Given the description of an element on the screen output the (x, y) to click on. 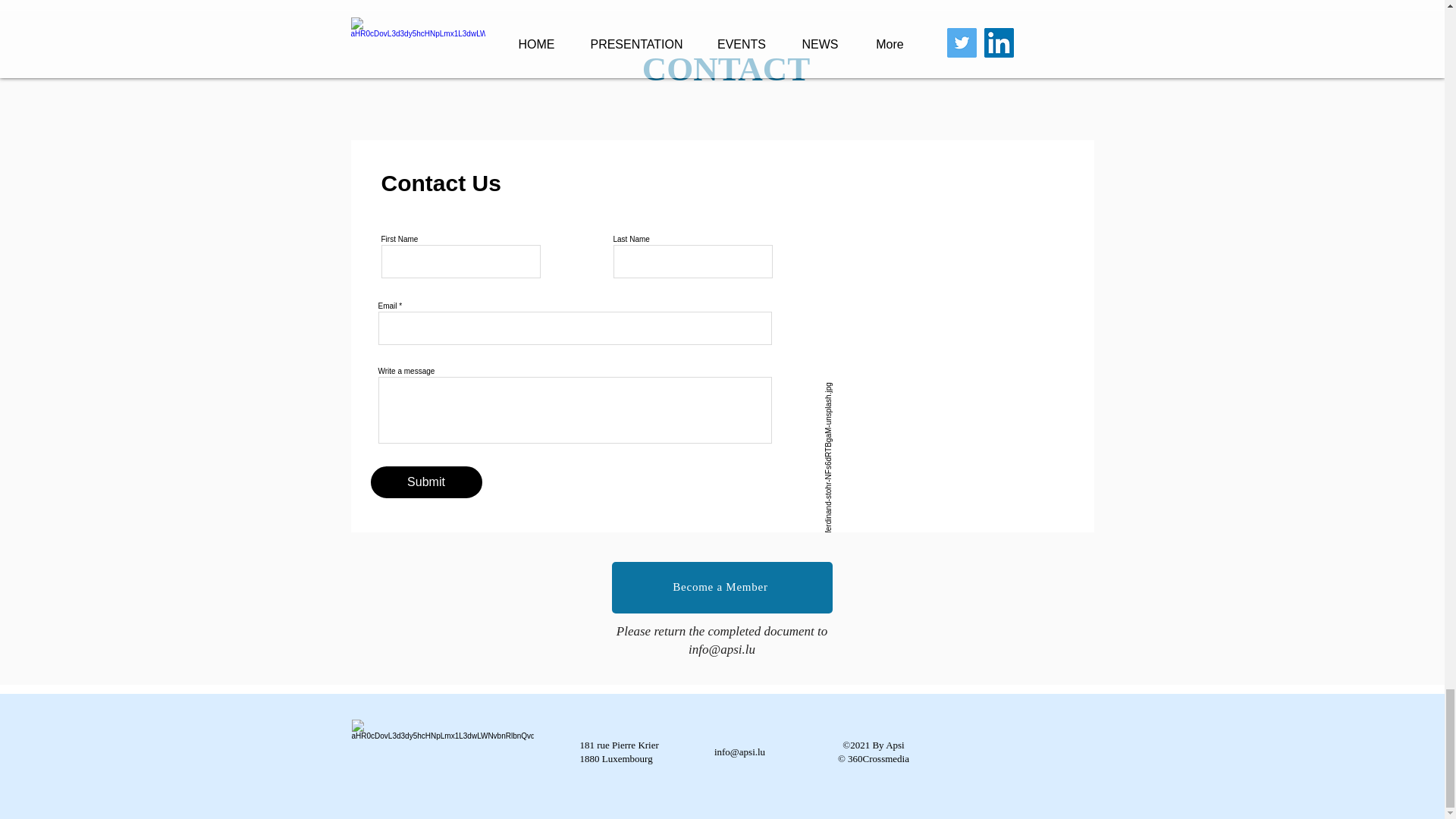
Become a Member (721, 587)
Submit (425, 481)
